Given the description of an element on the screen output the (x, y) to click on. 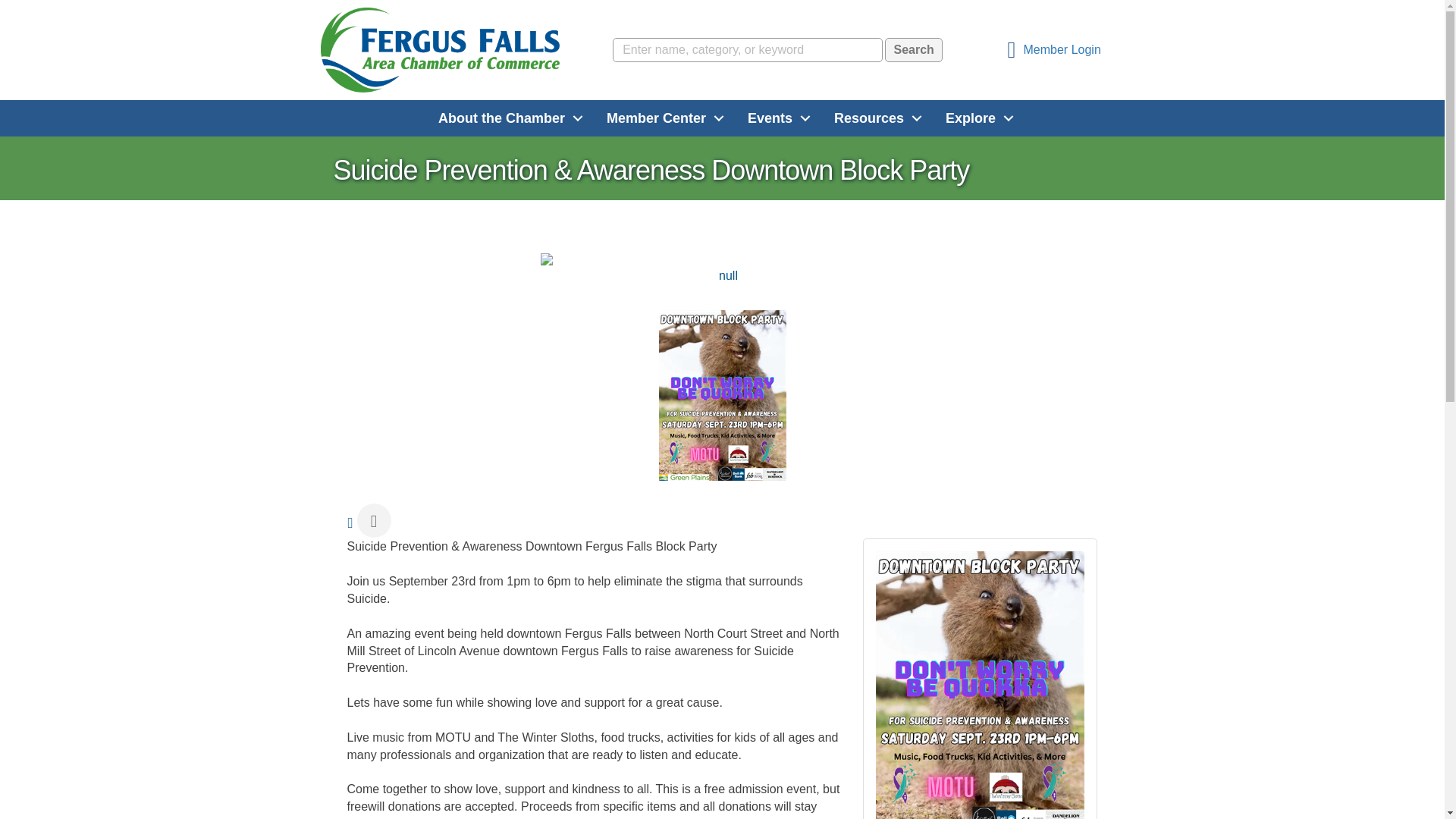
Events (775, 118)
Search (913, 49)
Search (913, 49)
Explore (976, 118)
About the Chamber (507, 118)
Member Center (661, 118)
Resources (874, 118)
Search (913, 49)
ffchamberlogo (439, 49)
Member Login (1050, 49)
